Given the description of an element on the screen output the (x, y) to click on. 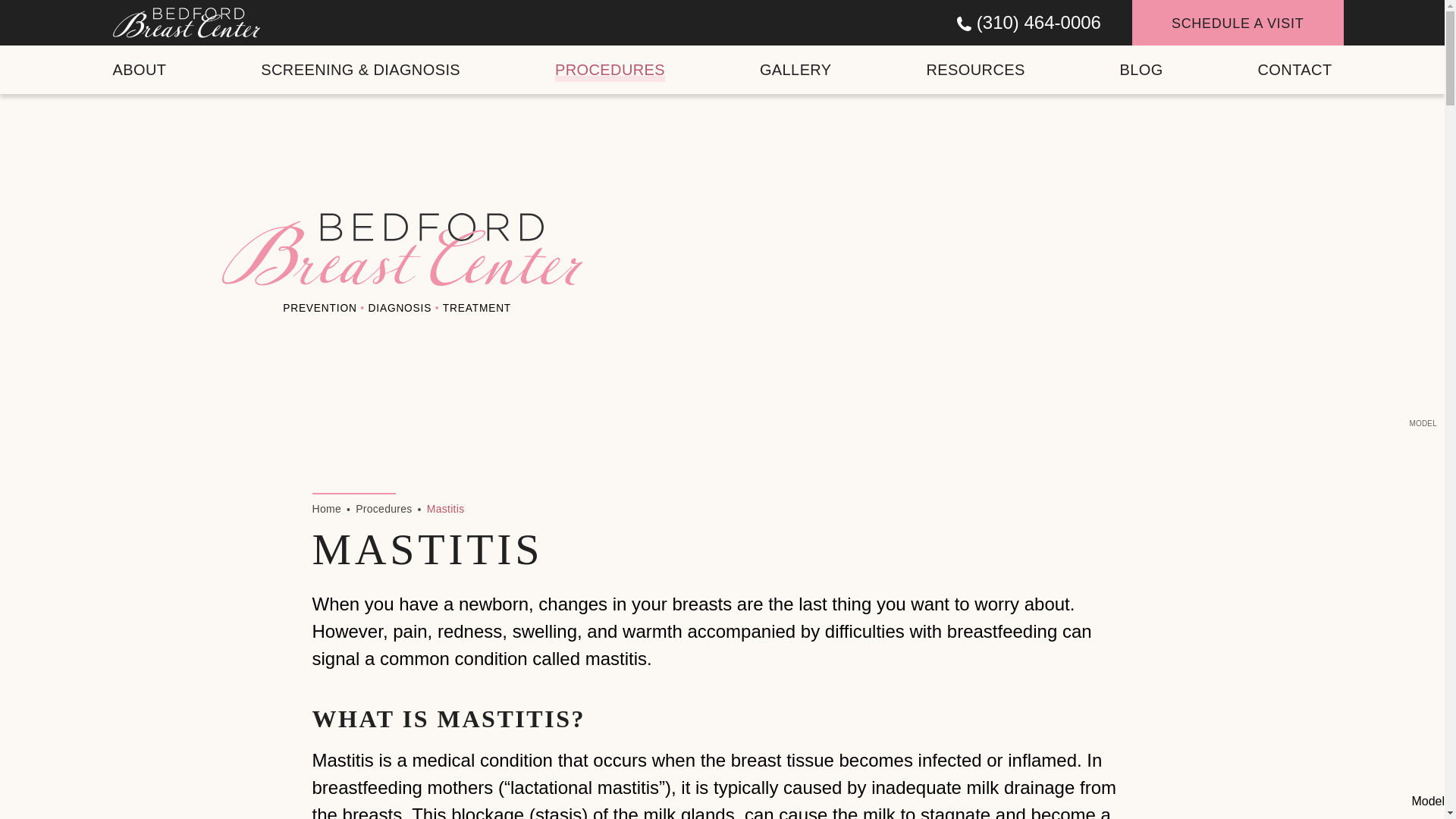
SCHEDULE A VISIT (1237, 22)
ABOUT (138, 69)
PROCEDURES (609, 69)
